Given the description of an element on the screen output the (x, y) to click on. 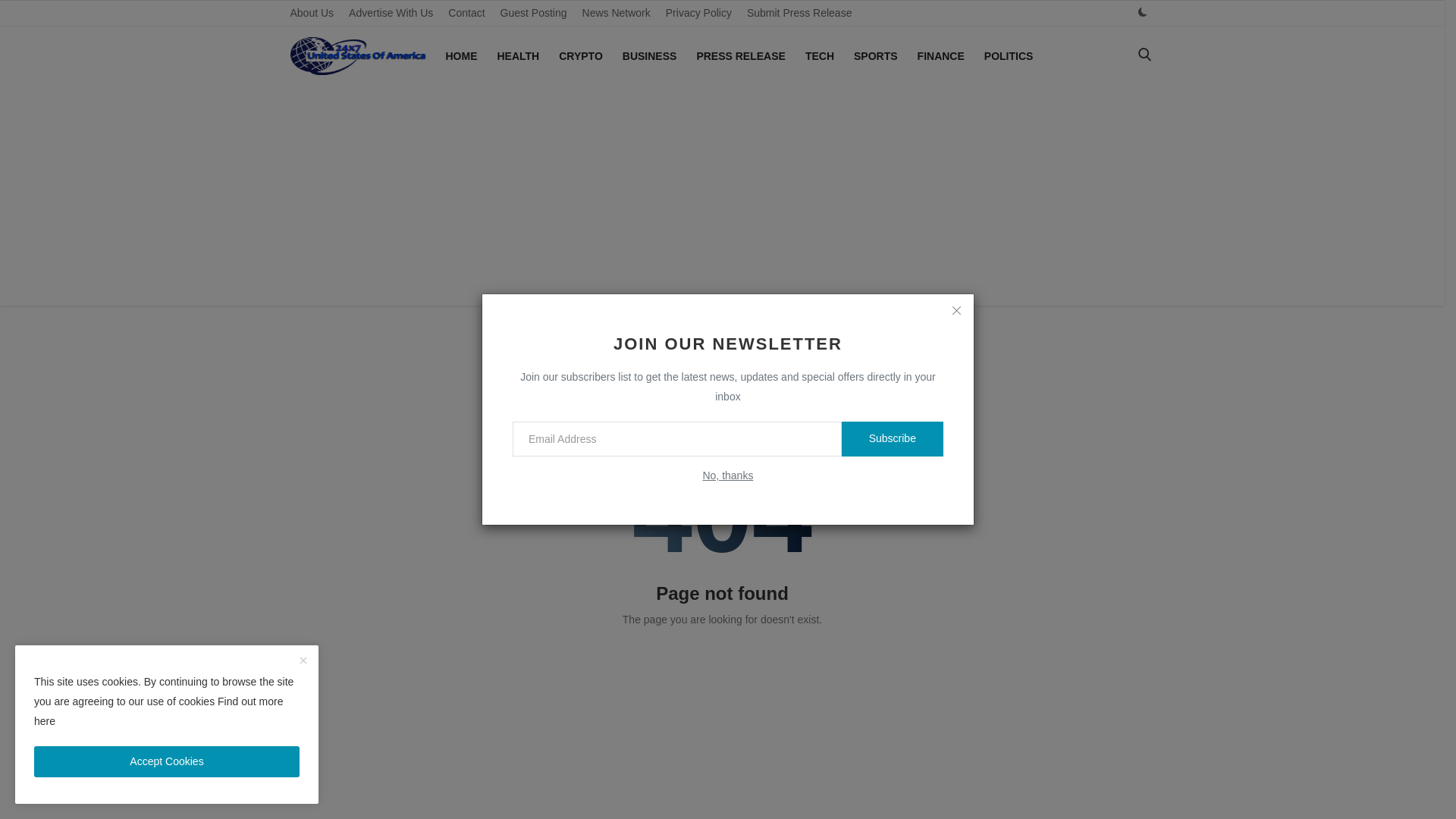
dark (1141, 12)
Submit Press Release (799, 13)
BUSINESS (649, 55)
Advertise With Us (390, 13)
CRYPTO (580, 55)
PRESS RELEASE (740, 55)
Contact (466, 13)
POLITICS (1008, 55)
News Network (616, 13)
Privacy Policy (698, 13)
Guest Posting (534, 13)
SPORTS (875, 55)
About Us (311, 13)
FINANCE (941, 55)
